Given the description of an element on the screen output the (x, y) to click on. 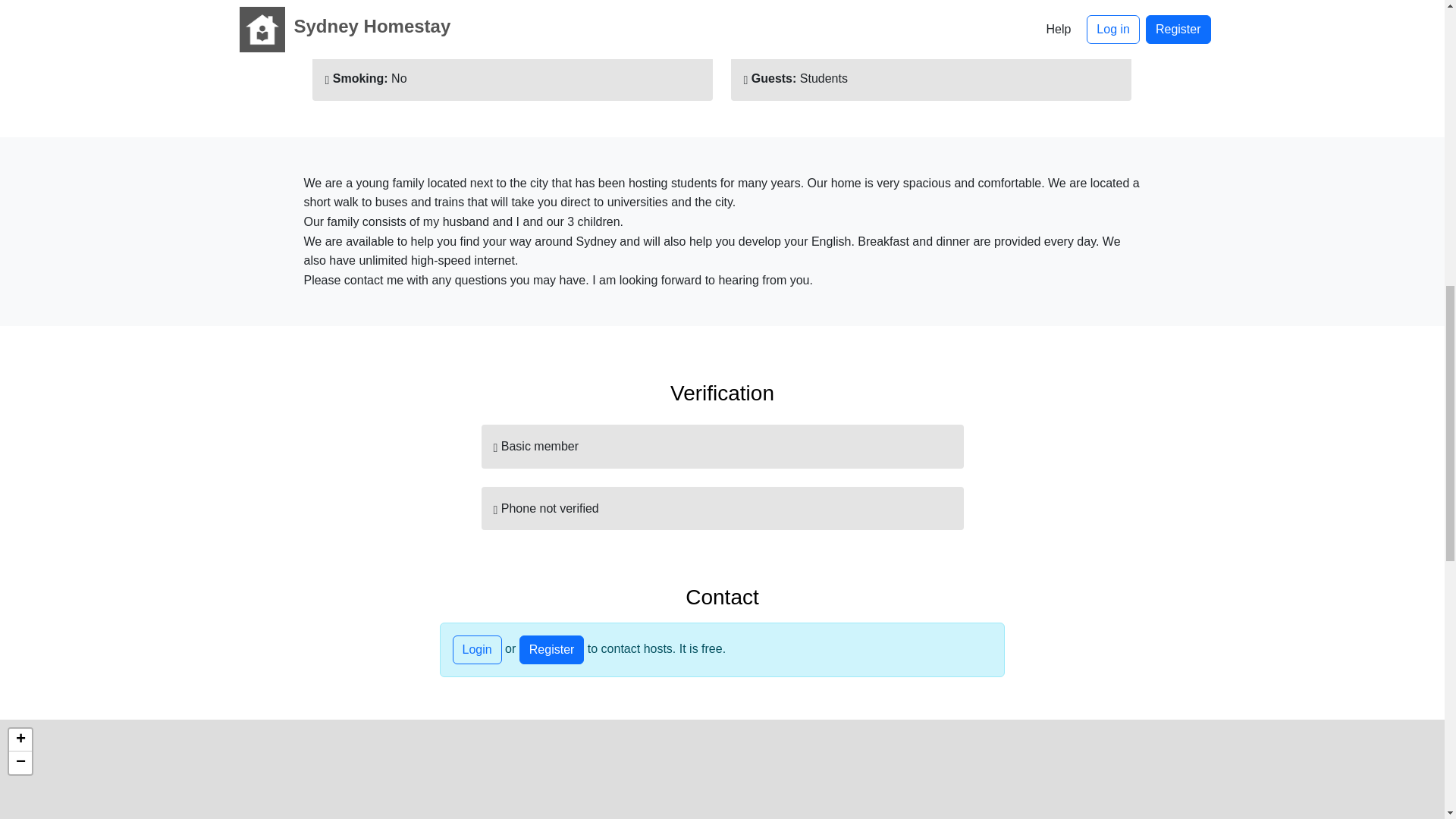
Login (475, 649)
Zoom in (20, 739)
Register (552, 649)
Zoom out (20, 762)
